Given the description of an element on the screen output the (x, y) to click on. 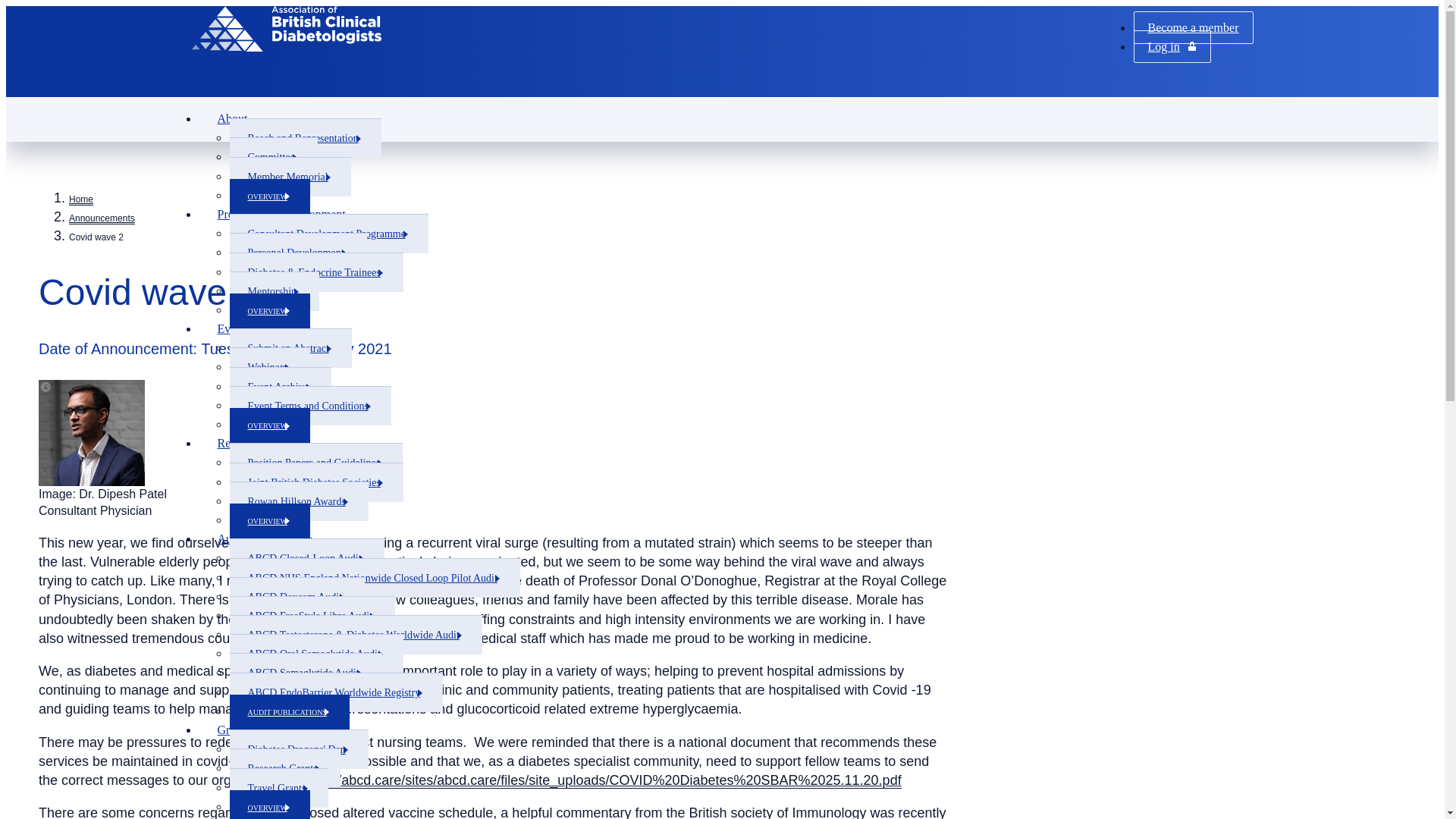
AUDIT PUBLICATIONS (288, 712)
Rowan Hillson Awards (298, 500)
Event Archive (279, 386)
ABCD Dexcom Audit (296, 596)
Reach and Representation (304, 137)
ABCD Semaglutide Audit (304, 672)
Position Papers and Guidelines (315, 462)
ABCD NHS England Nationwide Closed Loop Pilot Audit (373, 577)
Webinars (269, 366)
OVERVIEW (269, 520)
Event Terms and Conditions (309, 405)
Resources (243, 443)
Consultant Development Programme (328, 233)
ABCD FreeStyle Libre Audit (311, 615)
OVERVIEW (269, 196)
